Given the description of an element on the screen output the (x, y) to click on. 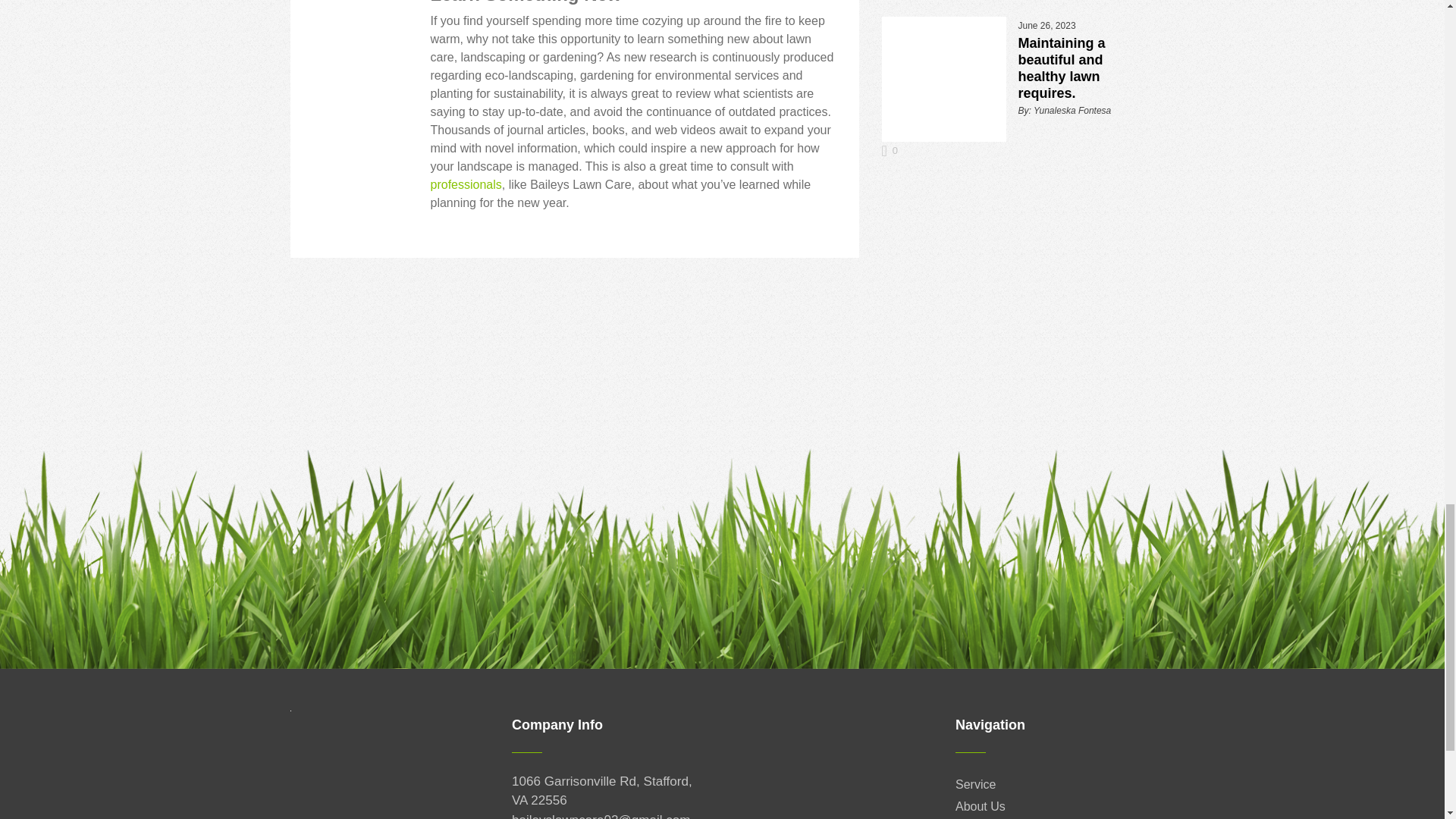
professionals (466, 184)
